Given the description of an element on the screen output the (x, y) to click on. 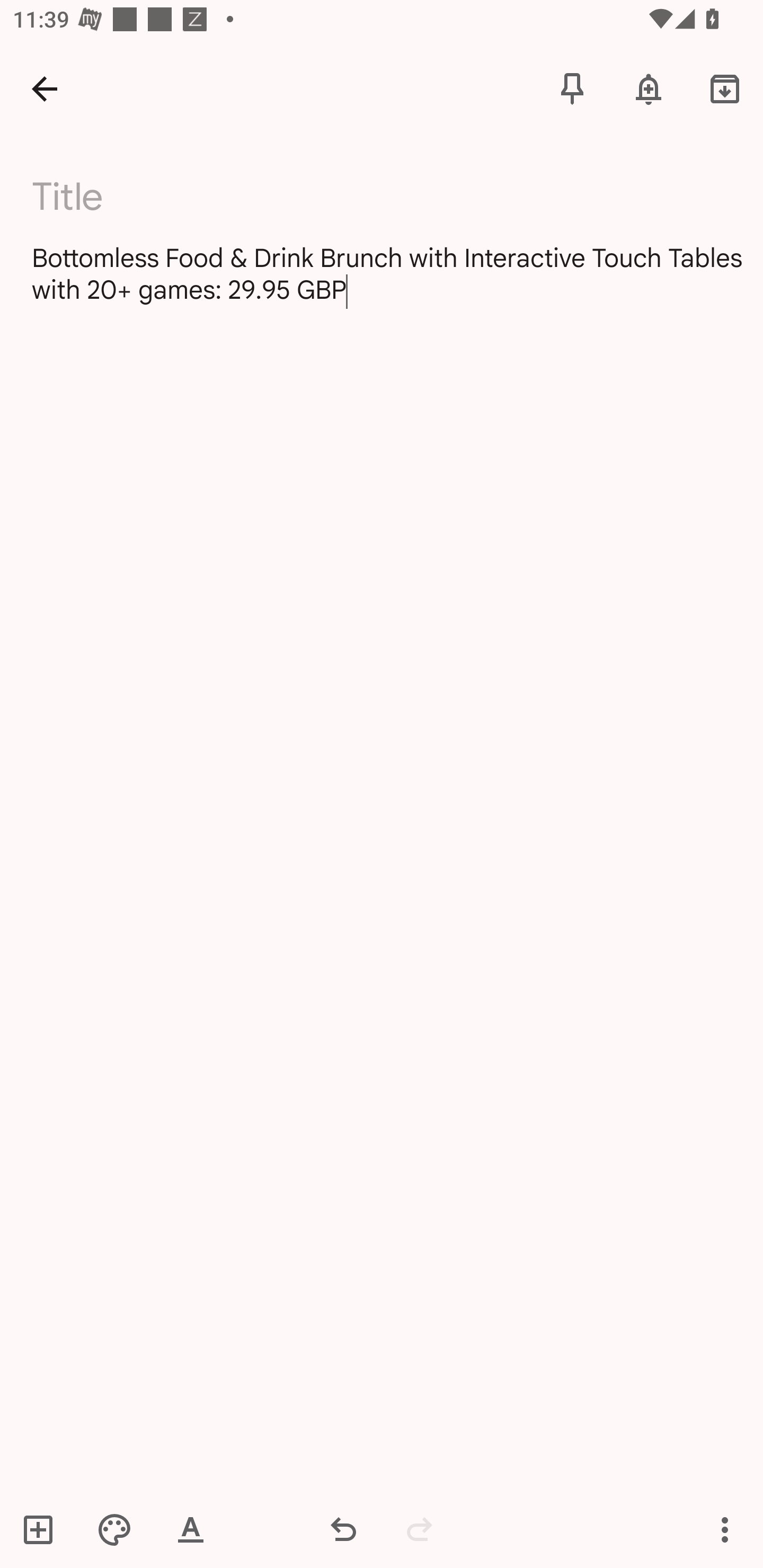
Navigate up (44, 88)
Pin (572, 88)
Reminder (648, 88)
Archive (724, 88)
Title (392, 196)
New list (44, 1529)
Theme (114, 1529)
Show formatting controls (190, 1529)
Undo (343, 1529)
Redo (419, 1529)
Action (724, 1529)
Link preview popout (726, 1552)
